Given the description of an element on the screen output the (x, y) to click on. 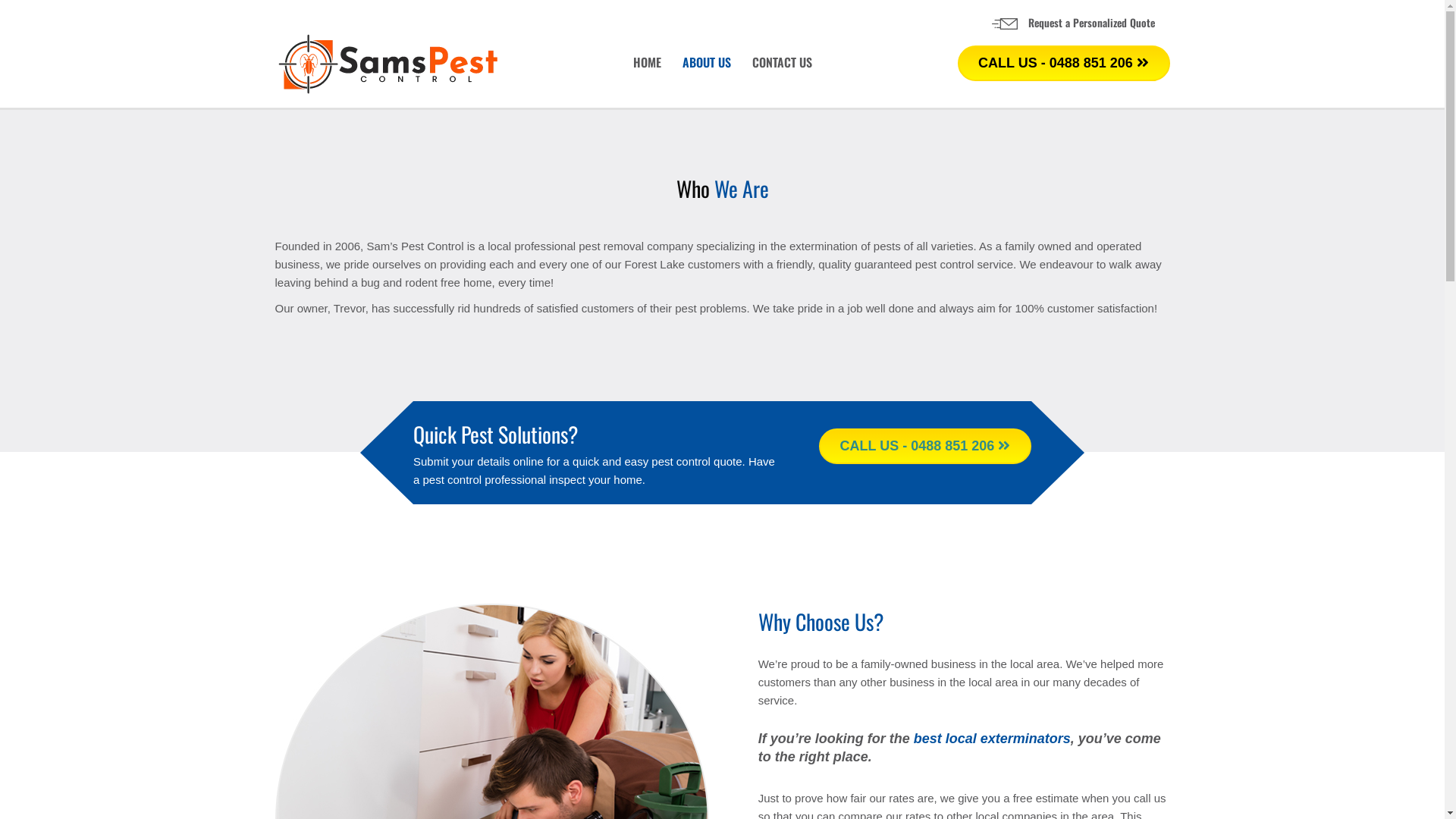
CONTACT US Element type: text (781, 62)
ABOUT US Element type: text (706, 62)
HOME Element type: text (646, 62)
CALL US - 0488 851 206 Element type: text (1063, 63)
CALL US - 0488 851 206 Element type: text (925, 445)
Request a Personalized Quote Element type: text (1091, 22)
